Given the description of an element on the screen output the (x, y) to click on. 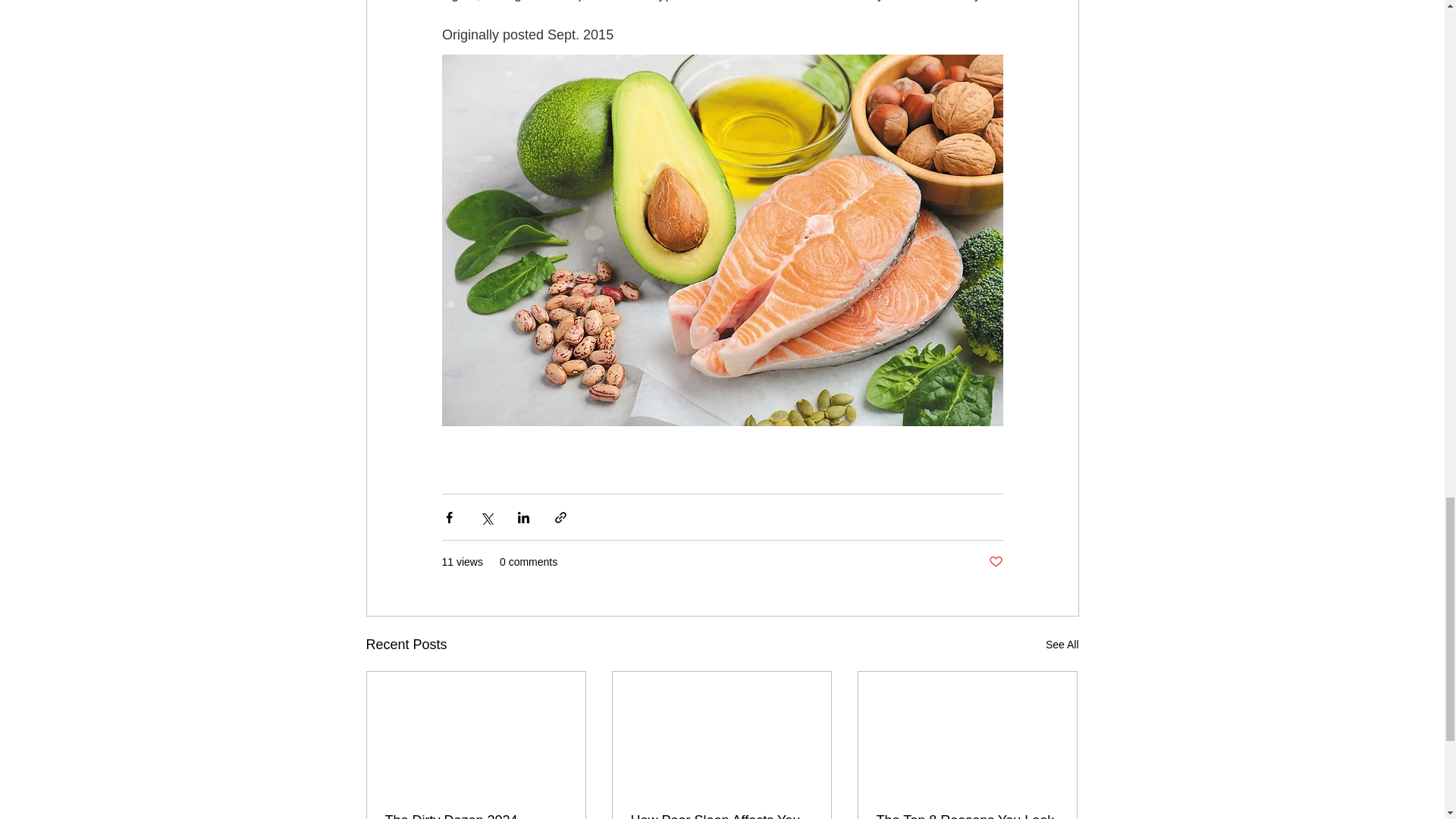
Post not marked as liked (995, 562)
How Poor Sleep Affects You (721, 816)
The Dirty Dozen 2024 (476, 816)
See All (1061, 644)
